Given the description of an element on the screen output the (x, y) to click on. 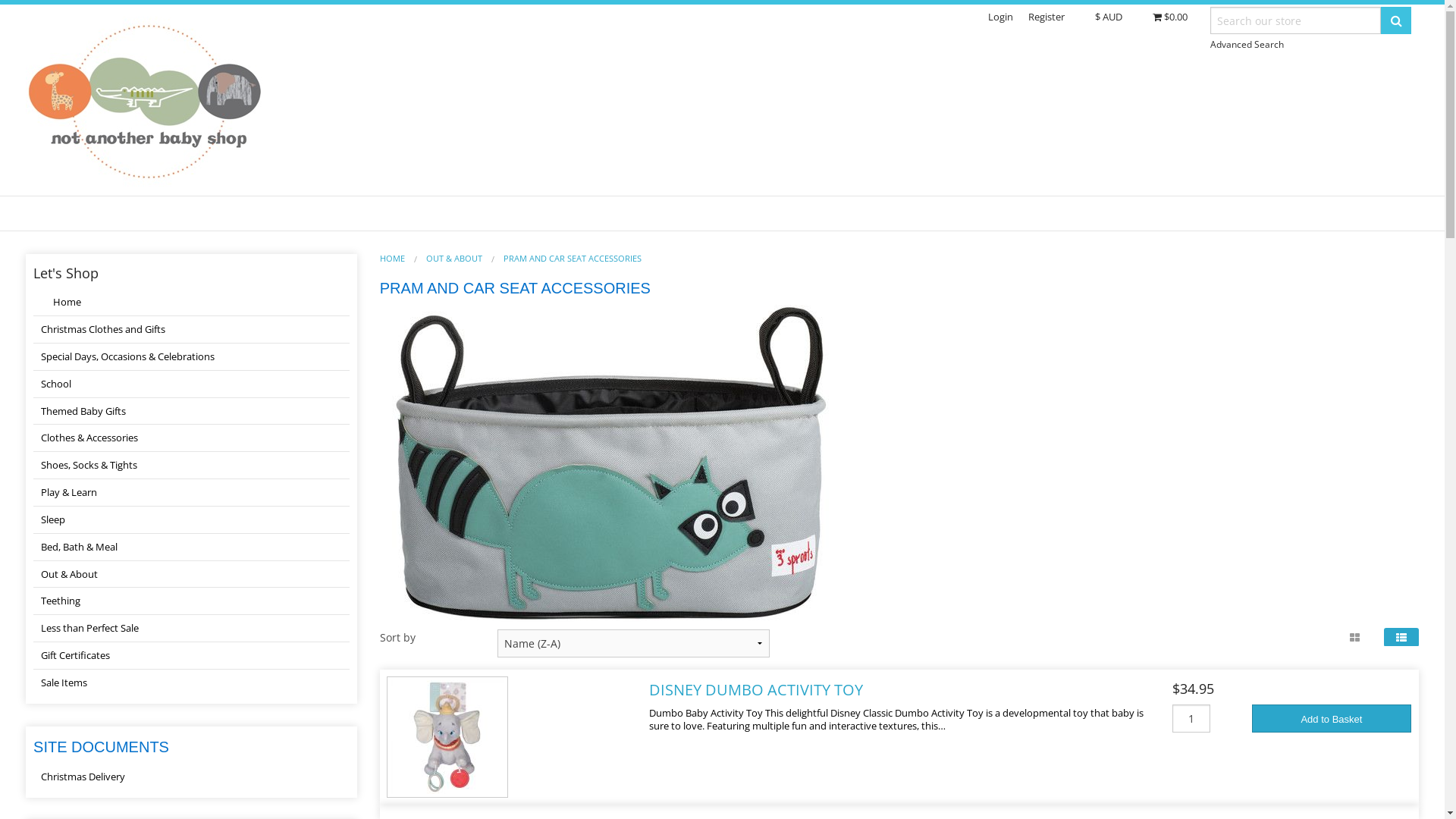
Home Element type: text (191, 302)
Search Element type: text (1395, 20)
Shoes, Socks & Tights Element type: text (191, 465)
$ AUD Element type: text (1108, 16)
Clothes & Accessories Element type: text (191, 437)
Sale Items Element type: text (191, 682)
Sleep Element type: text (191, 519)
Bed, Bath & Meal Element type: text (191, 547)
Out & About Element type: text (191, 574)
Login Element type: text (1000, 16)
Special Days, Occasions & Celebrations Element type: text (191, 356)
Teething Element type: text (191, 601)
Christmas Delivery Element type: text (191, 776)
Register Element type: text (1046, 16)
Disney Dumbo Activity Toy Element type: hover (447, 735)
HOME Element type: text (391, 257)
Less than Perfect Sale Element type: text (191, 628)
School Element type: text (191, 384)
DISNEY DUMBO ACTIVITY TOY Element type: text (755, 689)
Themed Baby Gifts Element type: text (191, 411)
Play & Learn Element type: text (191, 492)
Advanced Search Element type: text (1246, 43)
Add to Basket Element type: text (1331, 718)
OUT & ABOUT Element type: text (454, 257)
Christmas Clothes and Gifts Element type: text (191, 329)
Gift Certificates Element type: text (191, 655)
PRAM AND CAR SEAT ACCESSORIES Element type: text (572, 257)
Sort Element type: text (18, 10)
$0.00 Element type: text (1169, 16)
